Given the description of an element on the screen output the (x, y) to click on. 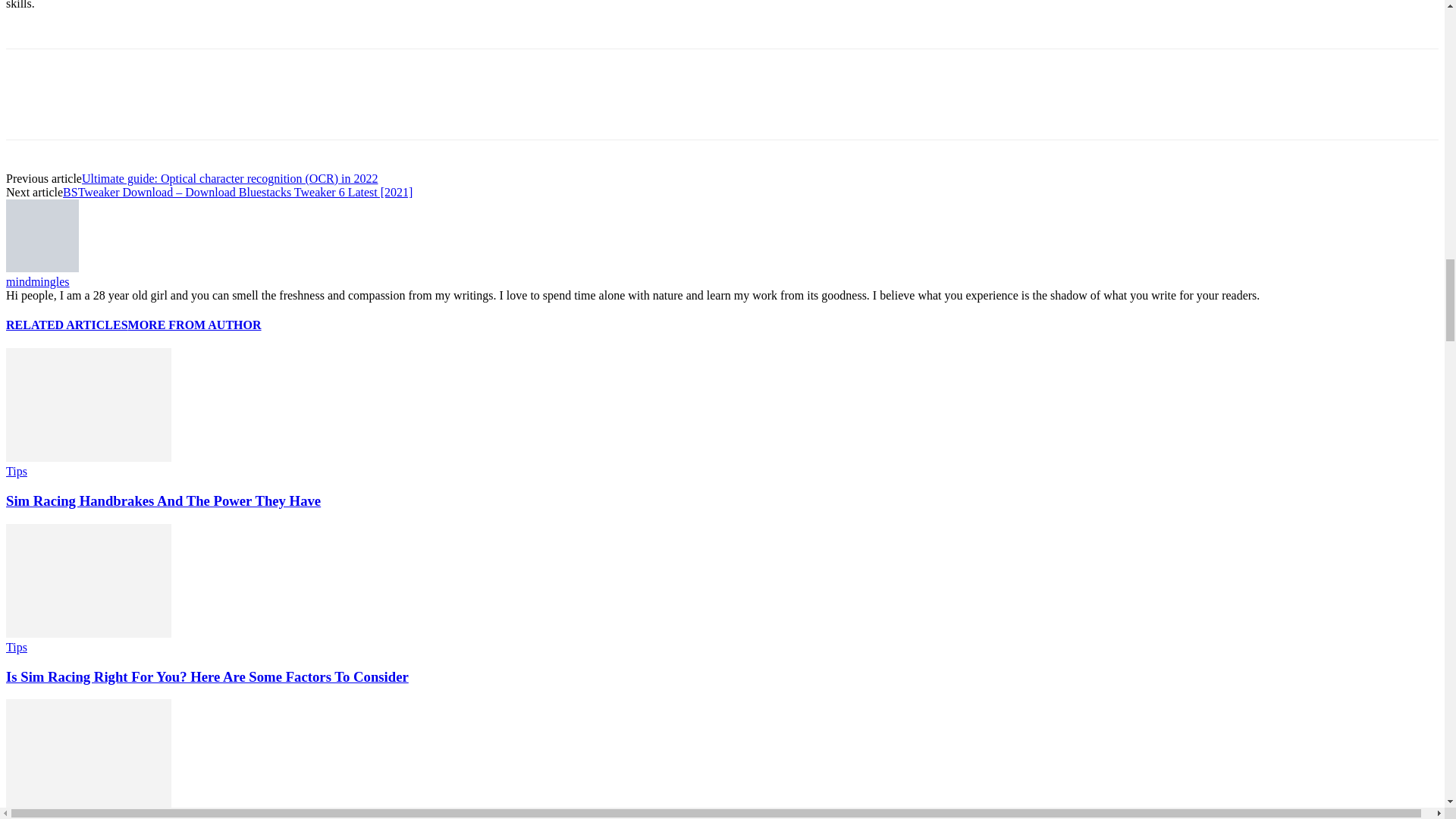
Sim Racing Handbrakes And The Power They Have (88, 457)
bottomFacebookLike (118, 73)
